Given the description of an element on the screen output the (x, y) to click on. 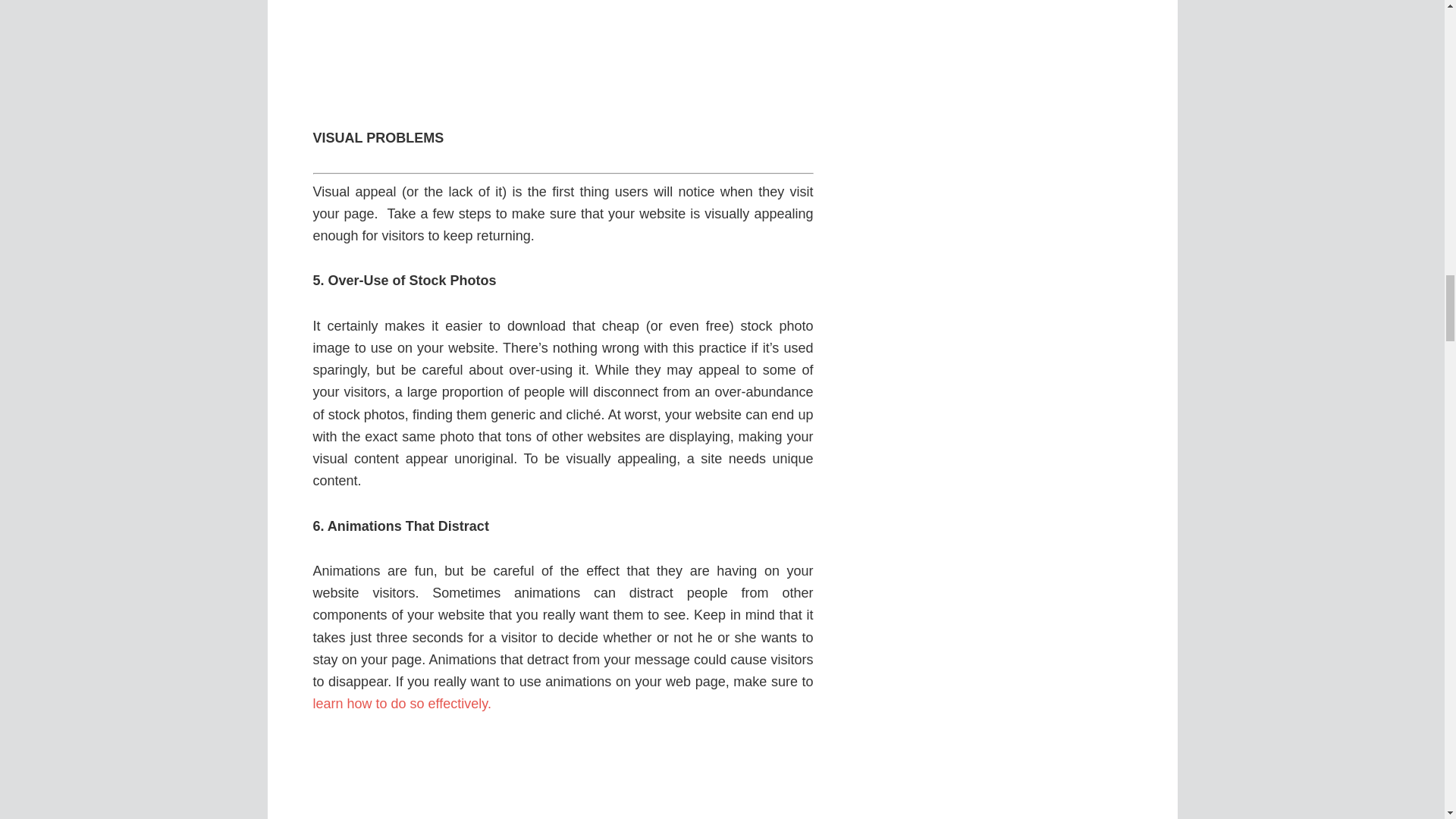
learn how to do so effectively. (401, 703)
17 Things That Drive Us Crazy About Your Website 3 (562, 52)
17 Things That Drive Us Crazy About Your Website 4 (562, 778)
